Given the description of an element on the screen output the (x, y) to click on. 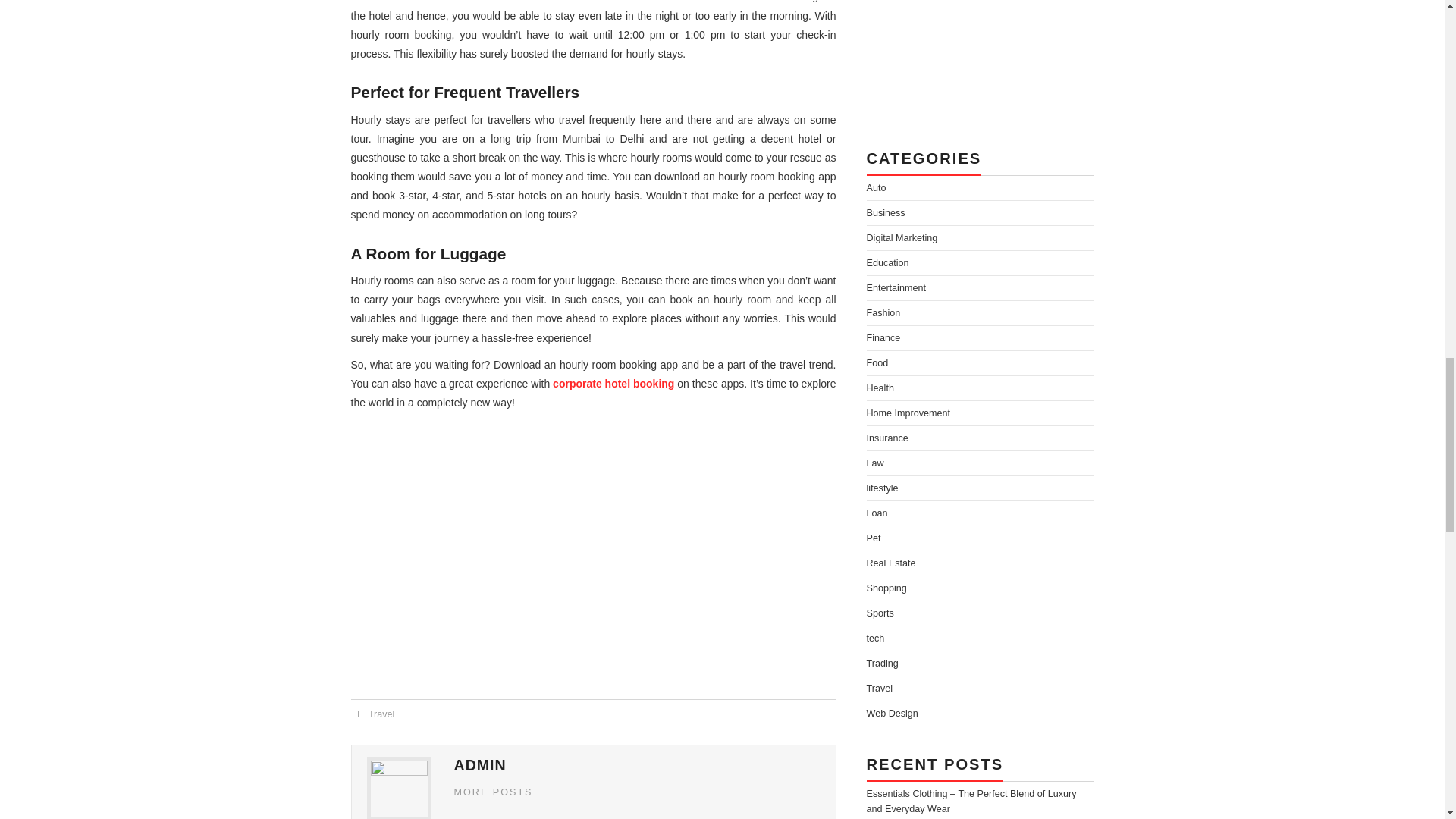
Travel (381, 714)
corporate hotel booking (613, 383)
MORE POSTS (492, 792)
